Given the description of an element on the screen output the (x, y) to click on. 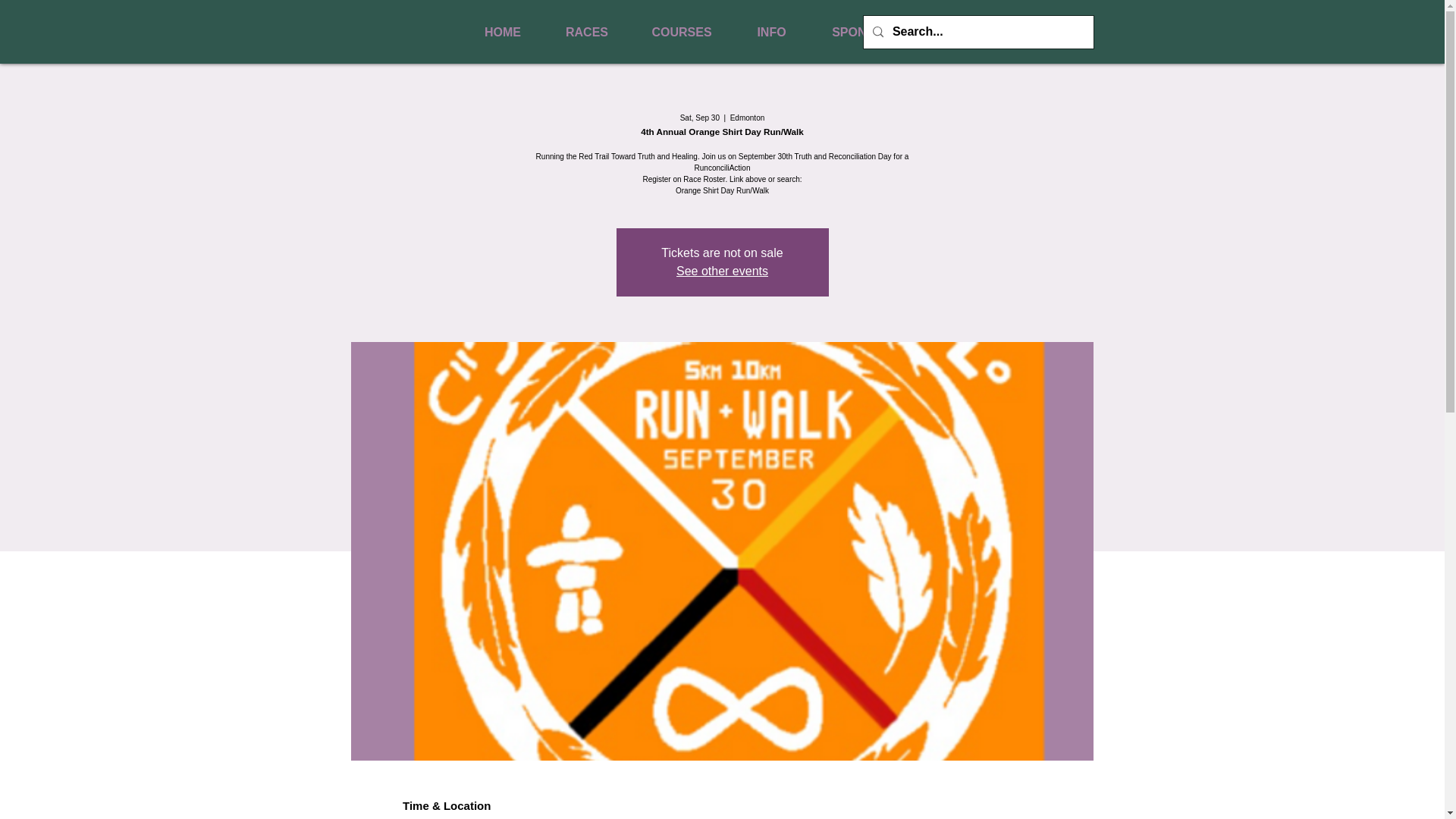
RACES (587, 32)
See other events (722, 270)
INFO (771, 32)
COURSES (680, 32)
SPONSORS (866, 32)
HOME (502, 32)
Blog (960, 32)
